Given the description of an element on the screen output the (x, y) to click on. 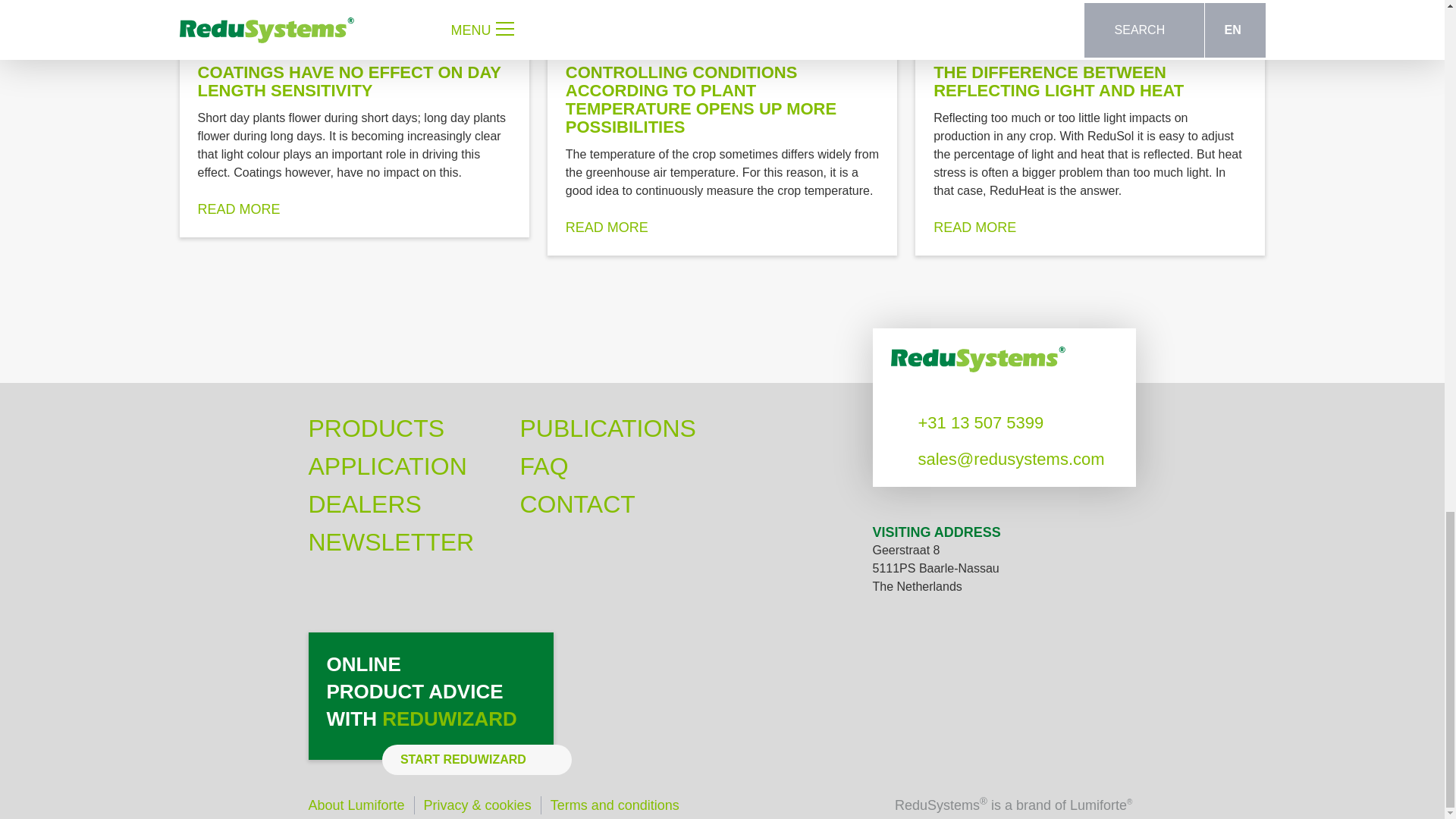
APPLICATION (386, 465)
CONTACT (576, 503)
DEALERS (363, 503)
NEWSLETTER (390, 542)
FAQ (544, 465)
START REDUWIZARD (476, 759)
PRODUCTS (375, 428)
